Given the description of an element on the screen output the (x, y) to click on. 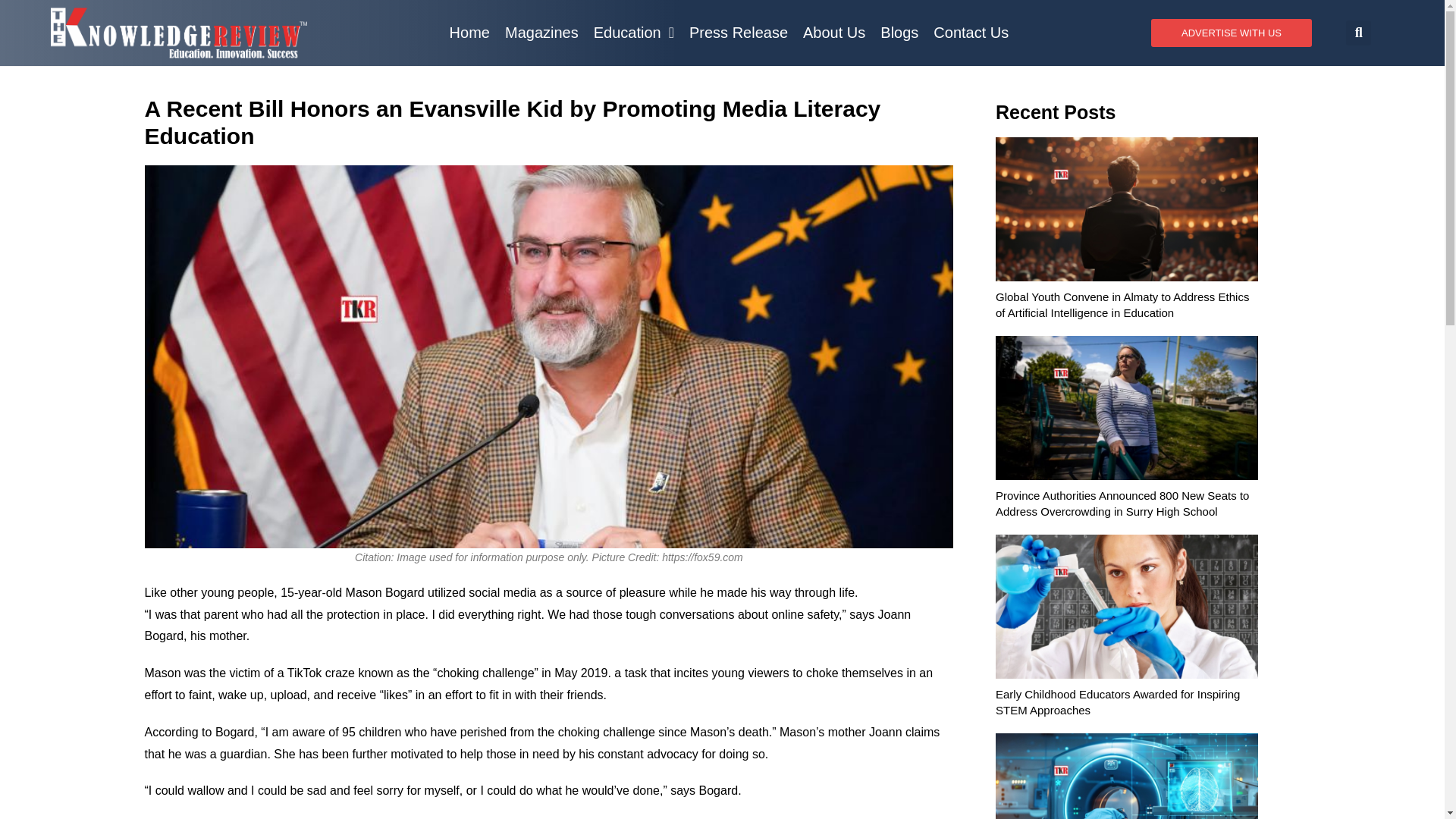
Home (469, 32)
Press Release (737, 32)
ADVERTISE WITH US (1232, 32)
Education (633, 32)
Magazines (541, 32)
Blogs (899, 32)
Contact Us (971, 32)
About Us (833, 32)
